Given the description of an element on the screen output the (x, y) to click on. 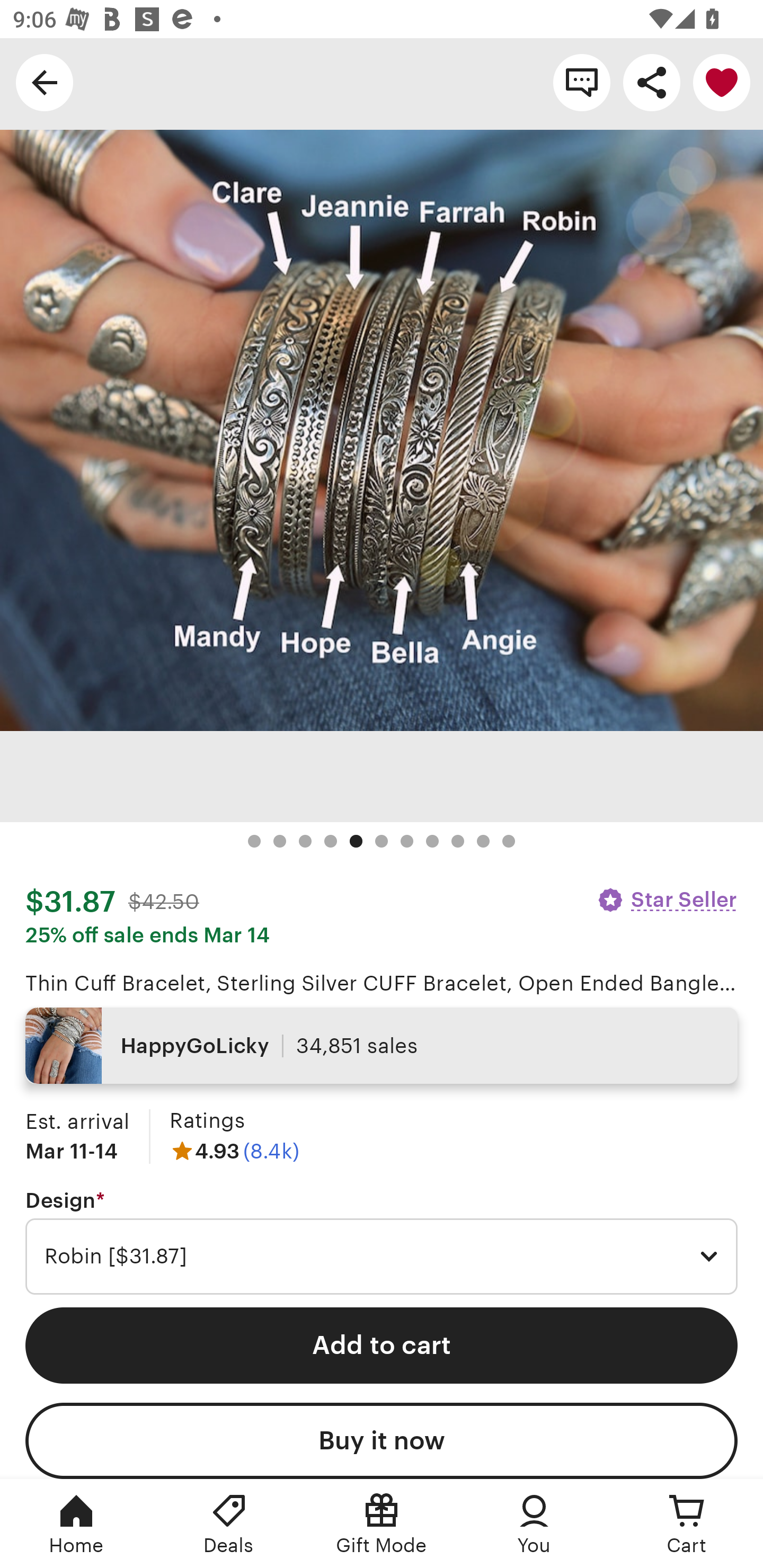
Navigate up (44, 81)
Contact shop (581, 81)
Share (651, 81)
Star Seller (666, 899)
HappyGoLicky 34,851 sales (381, 1045)
Ratings (206, 1120)
4.93 (8.4k) (234, 1150)
Design * Required Robin [$31.87] (381, 1241)
Robin [$31.87] (381, 1256)
Add to cart (381, 1344)
Buy it now (381, 1440)
Deals (228, 1523)
Gift Mode (381, 1523)
You (533, 1523)
Cart (686, 1523)
